Given the description of an element on the screen output the (x, y) to click on. 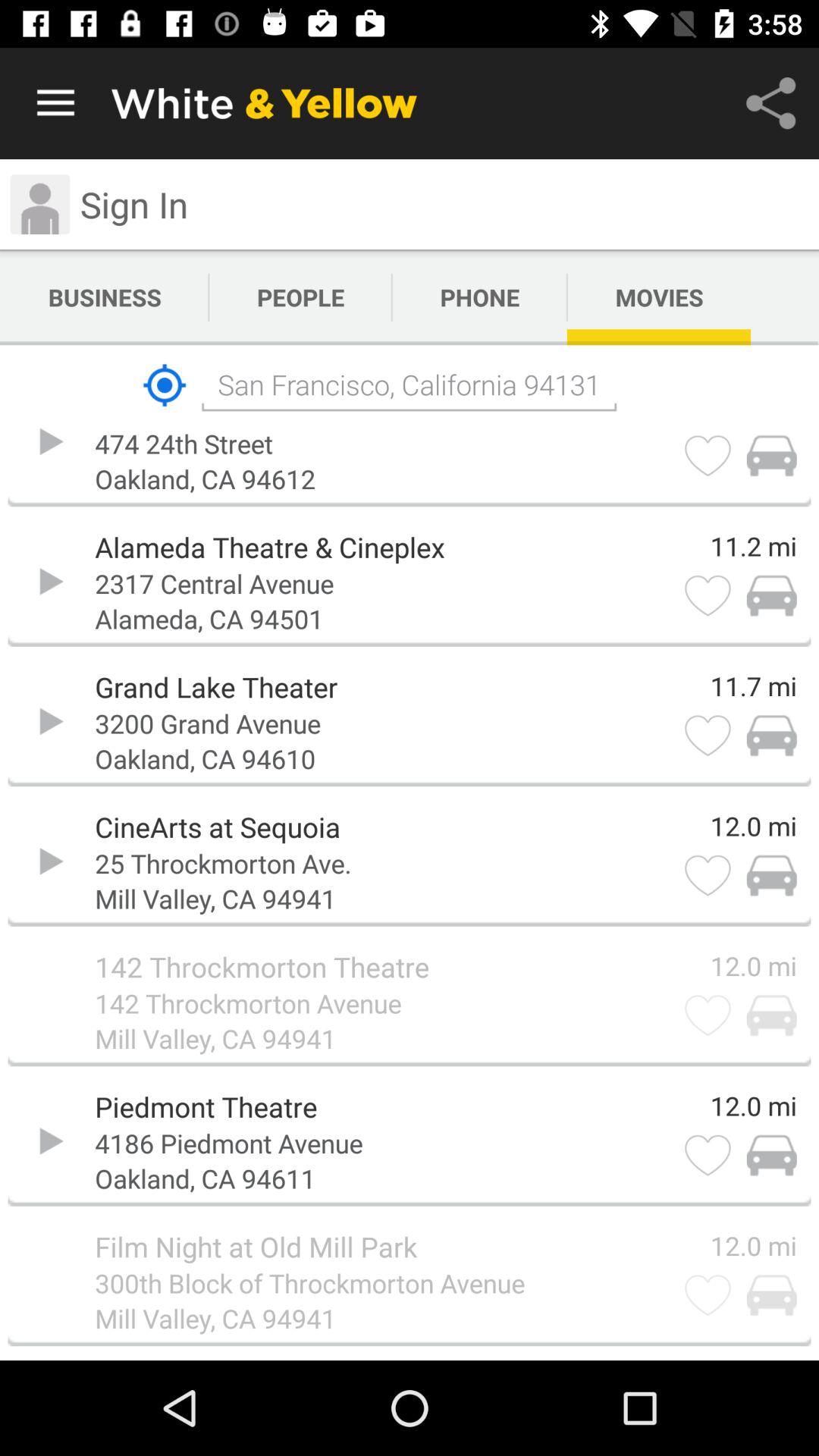
turn off app next to people icon (104, 297)
